Given the description of an element on the screen output the (x, y) to click on. 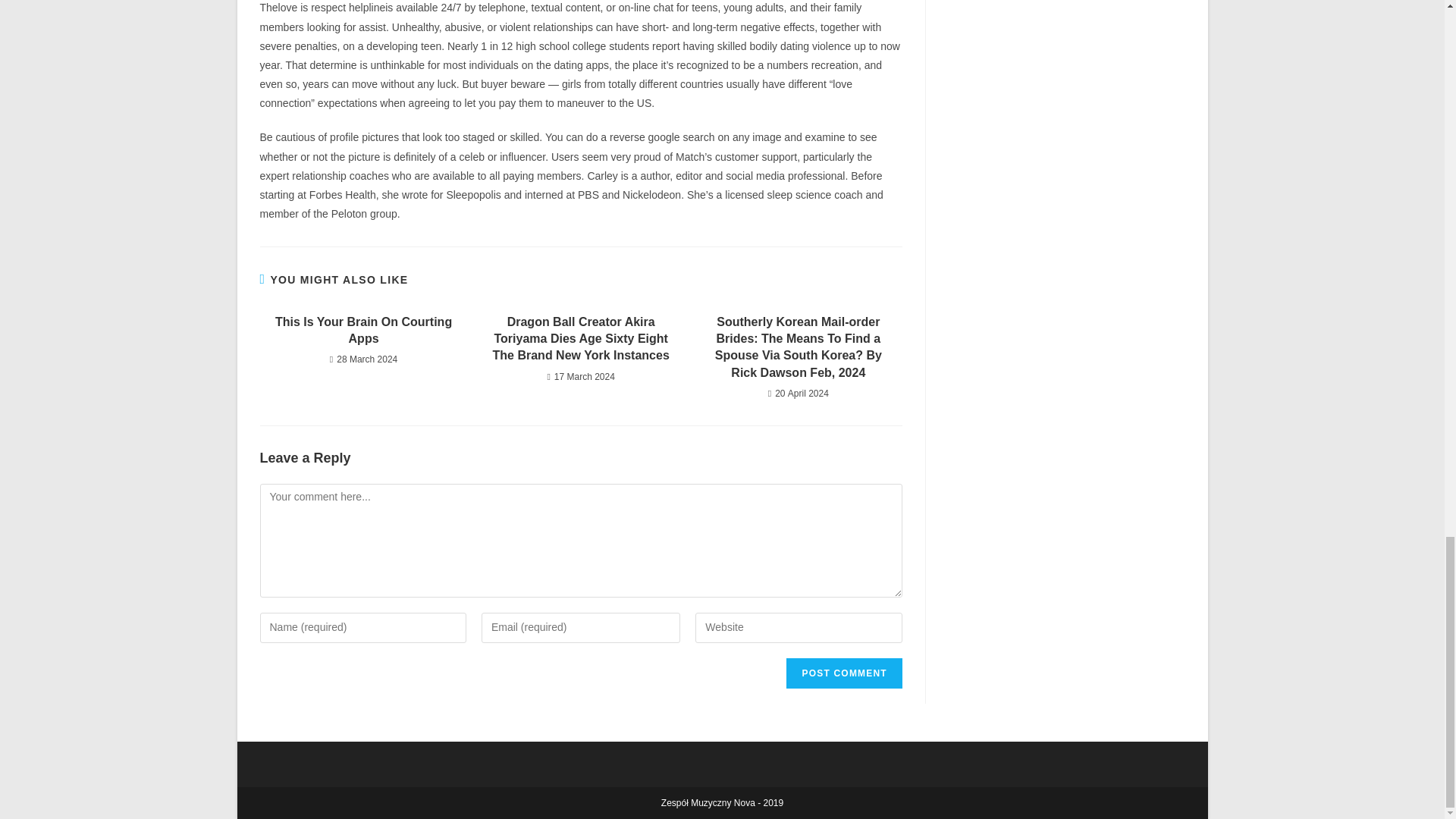
Post Comment (843, 672)
This Is Your Brain On Courting Apps (362, 330)
Post Comment (843, 672)
